Given the description of an element on the screen output the (x, y) to click on. 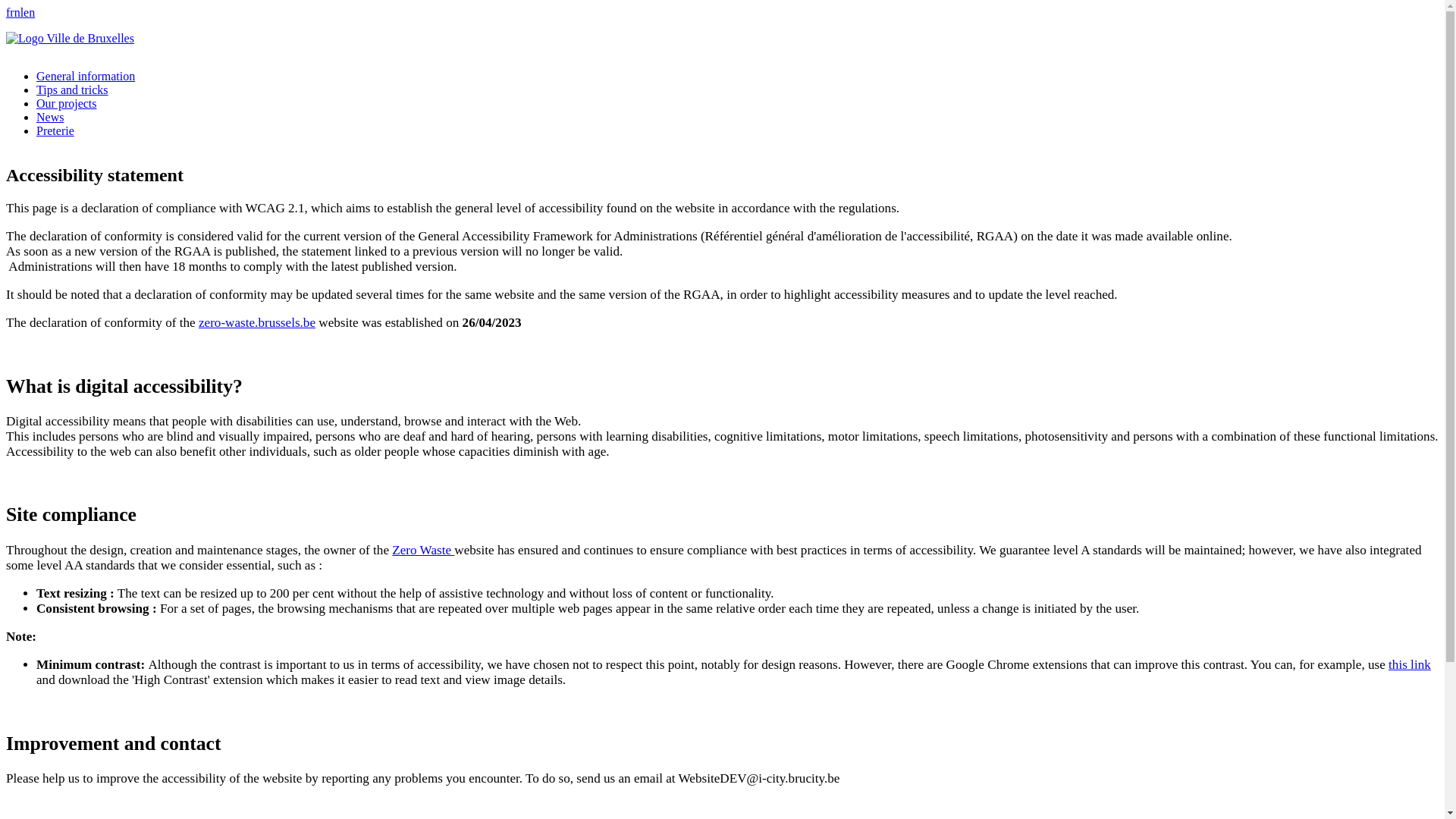
News Element type: text (49, 116)
zero-waste.brussels.be Element type: text (256, 322)
fr Element type: text (10, 12)
Preterie Element type: text (55, 130)
Skip to main content Element type: text (722, 7)
Zero Waste Element type: text (423, 549)
Our projects Element type: text (66, 103)
Tips and tricks Element type: text (72, 89)
this link Element type: text (1409, 664)
nl Element type: text (18, 12)
en Element type: text (28, 12)
General information Element type: text (85, 75)
